Given the description of an element on the screen output the (x, y) to click on. 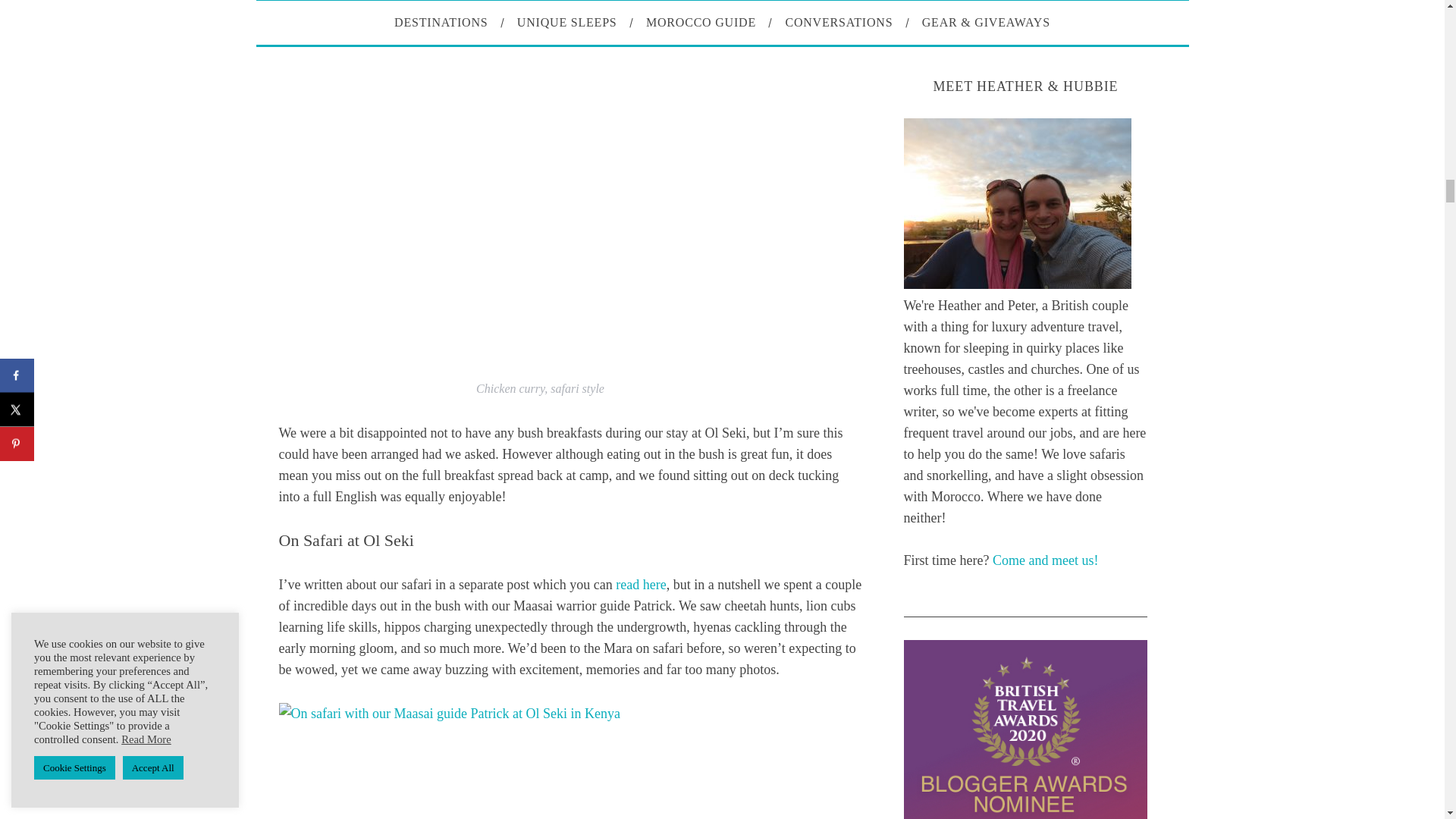
On safari with our Maasai guide Patrick at Ol Seki in Kenya (571, 760)
